Given the description of an element on the screen output the (x, y) to click on. 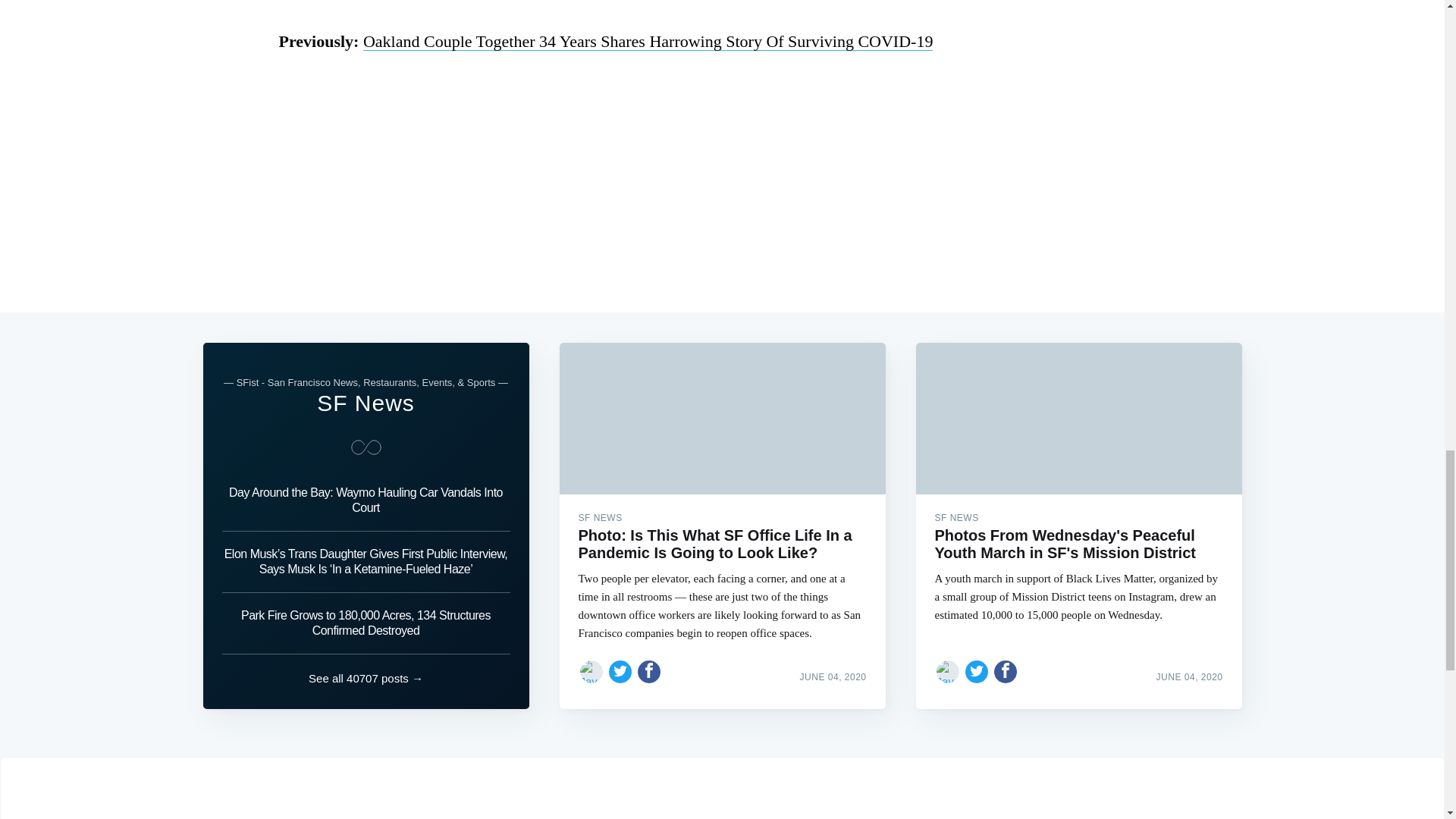
Day Around the Bay: Waymo Hauling Car Vandals Into Court (365, 504)
Share on Facebook (1004, 671)
Share on Twitter (620, 671)
Share on Twitter (976, 671)
Share on Facebook (649, 671)
SF News (365, 402)
